Given the description of an element on the screen output the (x, y) to click on. 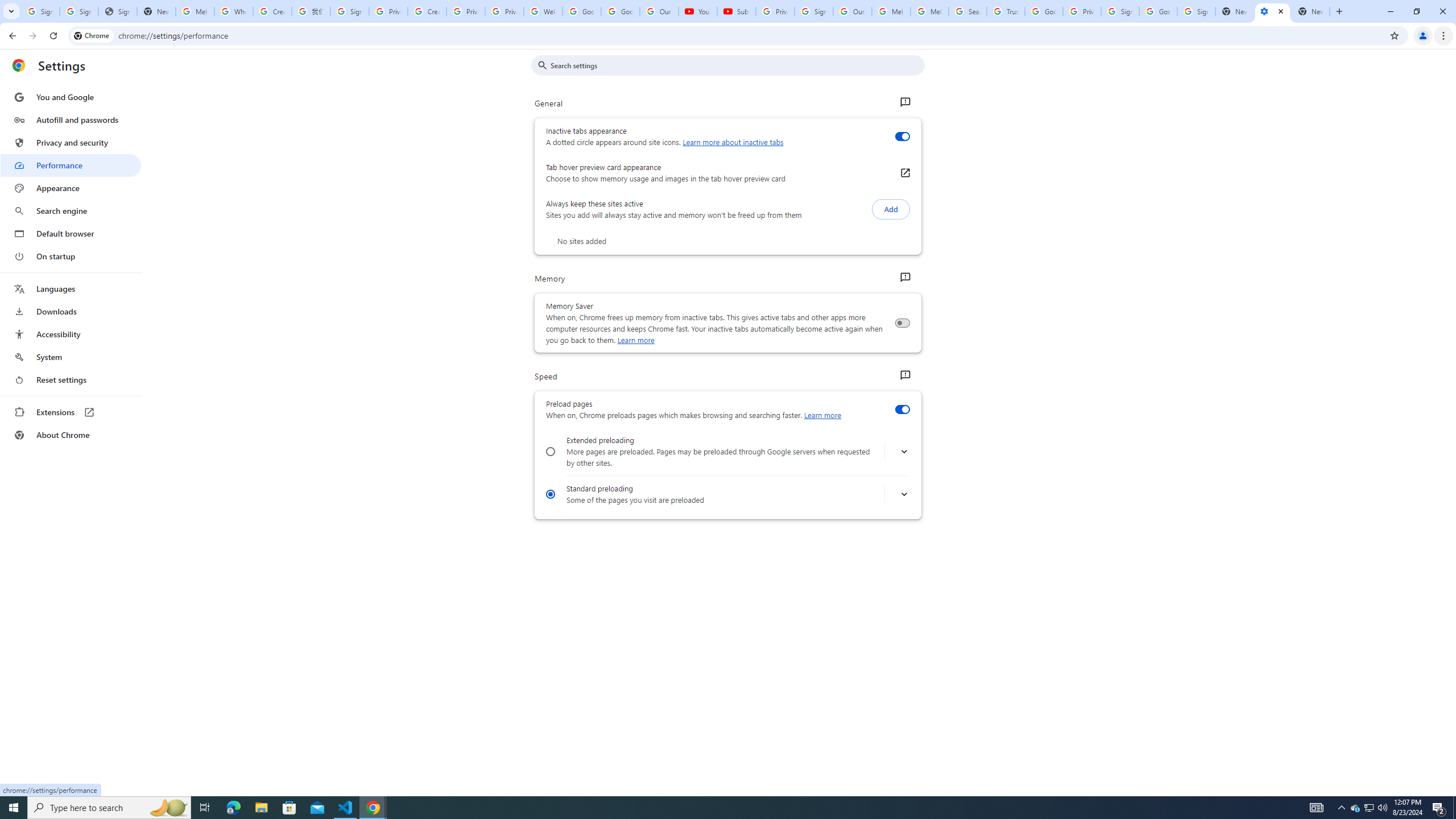
Trusted Information and Content - Google Safety Center (1005, 11)
Subscriptions - YouTube (736, 11)
Appearance (70, 187)
Reset settings (70, 379)
Learn more about inactive tabs (732, 141)
 More info about turning on extended preloading (903, 451)
Privacy and security (70, 142)
General (904, 102)
Standard preloading (550, 493)
